Given the description of an element on the screen output the (x, y) to click on. 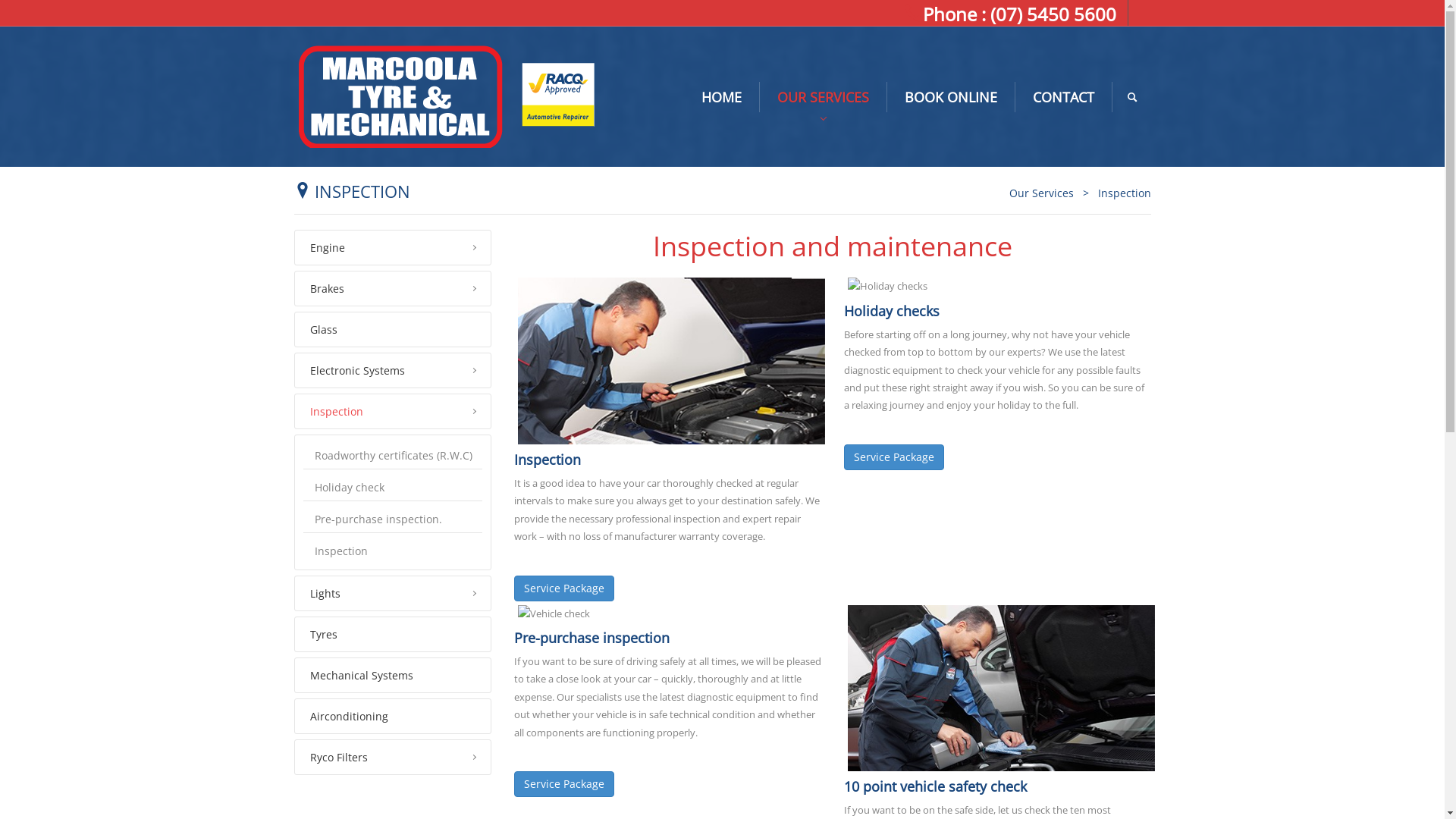
Inspection Element type: text (392, 551)
Ryco Filters Element type: text (392, 757)
Holiday checkups Element type: hover (887, 285)
Glass Element type: text (392, 329)
Tyres Element type: text (392, 634)
Brakes Element type: text (392, 288)
Our Services Element type: text (1040, 192)
Engine Element type: text (392, 247)
BOOK ONLINE Element type: text (951, 96)
Service Package Element type: text (564, 784)
Vehicle safety check Element type: hover (1000, 688)
Pre-purchase inspection. Element type: text (392, 519)
Inspection Element type: text (392, 411)
Inspection Element type: text (1124, 192)
CONTACT Element type: text (1062, 96)
Roadworthy certificates (R.W.C) Element type: text (392, 455)
Inspection service Element type: hover (670, 360)
Holiday check Element type: text (392, 487)
Electronic Systems Element type: text (392, 370)
Service Package Element type: text (893, 457)
Service Package Element type: text (564, 588)
HOME Element type: text (721, 96)
Mechanical Systems Element type: text (392, 675)
Marcoola Tyre and Mechanical Repairs Element type: hover (445, 95)
OUR SERVICES Element type: text (823, 96)
Airconditioning Element type: text (392, 716)
Lights Element type: text (392, 593)
Vehicle checkups Element type: hover (553, 613)
